Given the description of an element on the screen output the (x, y) to click on. 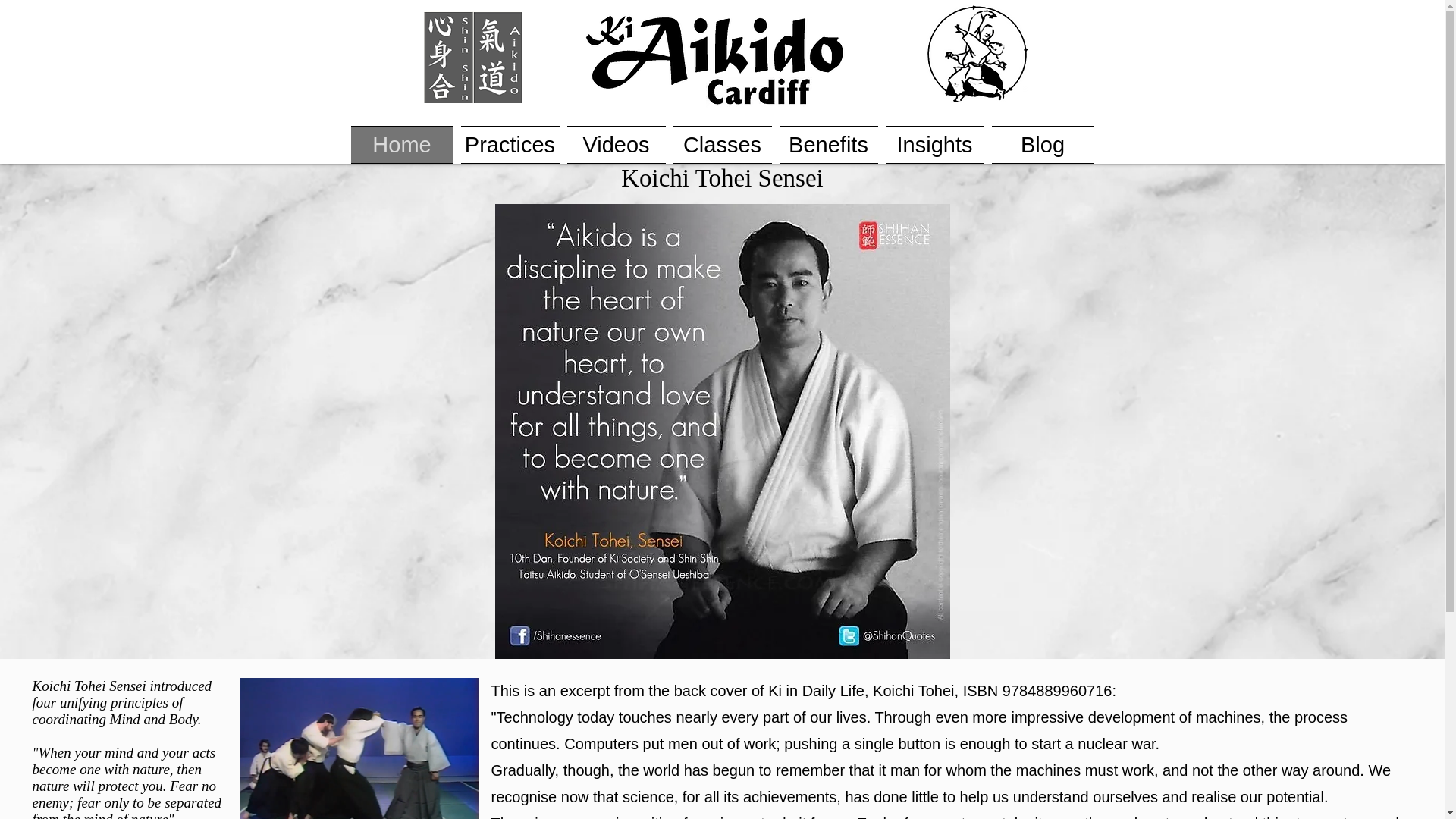
Videos (615, 144)
Benefits (827, 144)
Insights (933, 144)
Blog (1040, 144)
Home (403, 144)
Practices (509, 144)
Classes (721, 144)
